Given the description of an element on the screen output the (x, y) to click on. 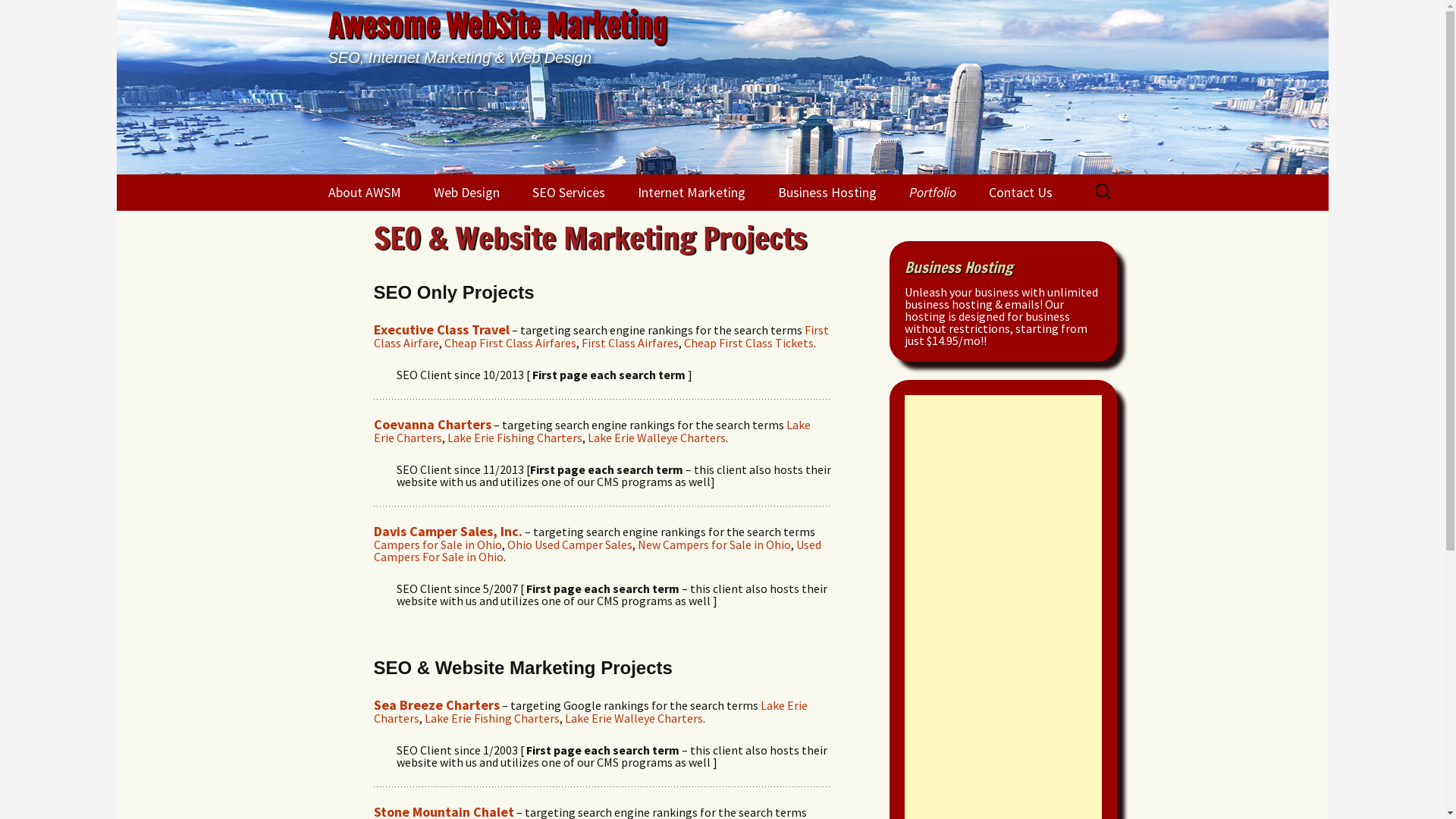
Skip to content Element type: text (352, 180)
Portfolio Element type: text (931, 192)
Lake Erie Charters Element type: text (589, 711)
Lake Erie Walleye Charters Element type: text (655, 437)
Business Hosting Element type: text (826, 192)
First Class Airfare Element type: text (600, 336)
About AWSM Element type: text (363, 192)
Contact Us Element type: text (1020, 192)
Coevanna Charters Element type: text (431, 424)
Davis Camper Sales, Inc. Element type: text (447, 531)
Lake Erie Fishing Charters Element type: text (491, 717)
Sea Breeze Charters Element type: text (435, 704)
Cheap First Class Tickets Element type: text (748, 342)
First Class Airfares Element type: text (628, 342)
Used Campers For Sale in Ohio Element type: text (596, 550)
Lake Erie Fishing Charters Element type: text (514, 437)
Cheap First Class Airfares Element type: text (510, 342)
Executive Class Travel Element type: text (440, 329)
Search Element type: text (18, 16)
Web Design Element type: text (466, 192)
Lake Erie Walleye Charters Element type: text (633, 717)
Internet Marketing Element type: text (690, 192)
New Campers for Sale in Ohio Element type: text (713, 544)
SEO Services Element type: text (568, 192)
Campers for Sale in Ohio Element type: text (437, 544)
Ohio Used Camper Sales Element type: text (568, 544)
Lake Erie Charters Element type: text (591, 431)
